Given the description of an element on the screen output the (x, y) to click on. 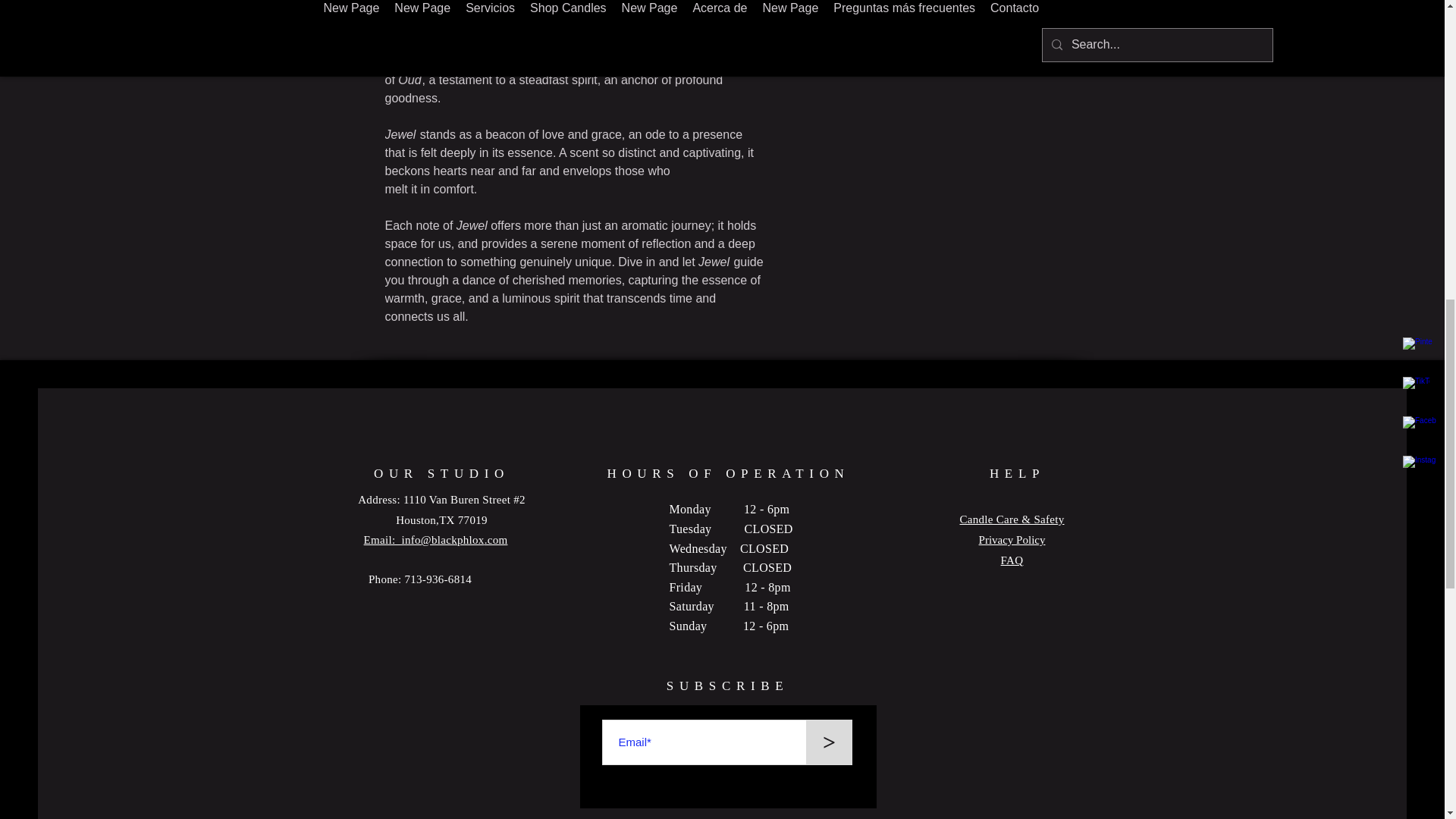
Privacy Policy (1011, 539)
